Given the description of an element on the screen output the (x, y) to click on. 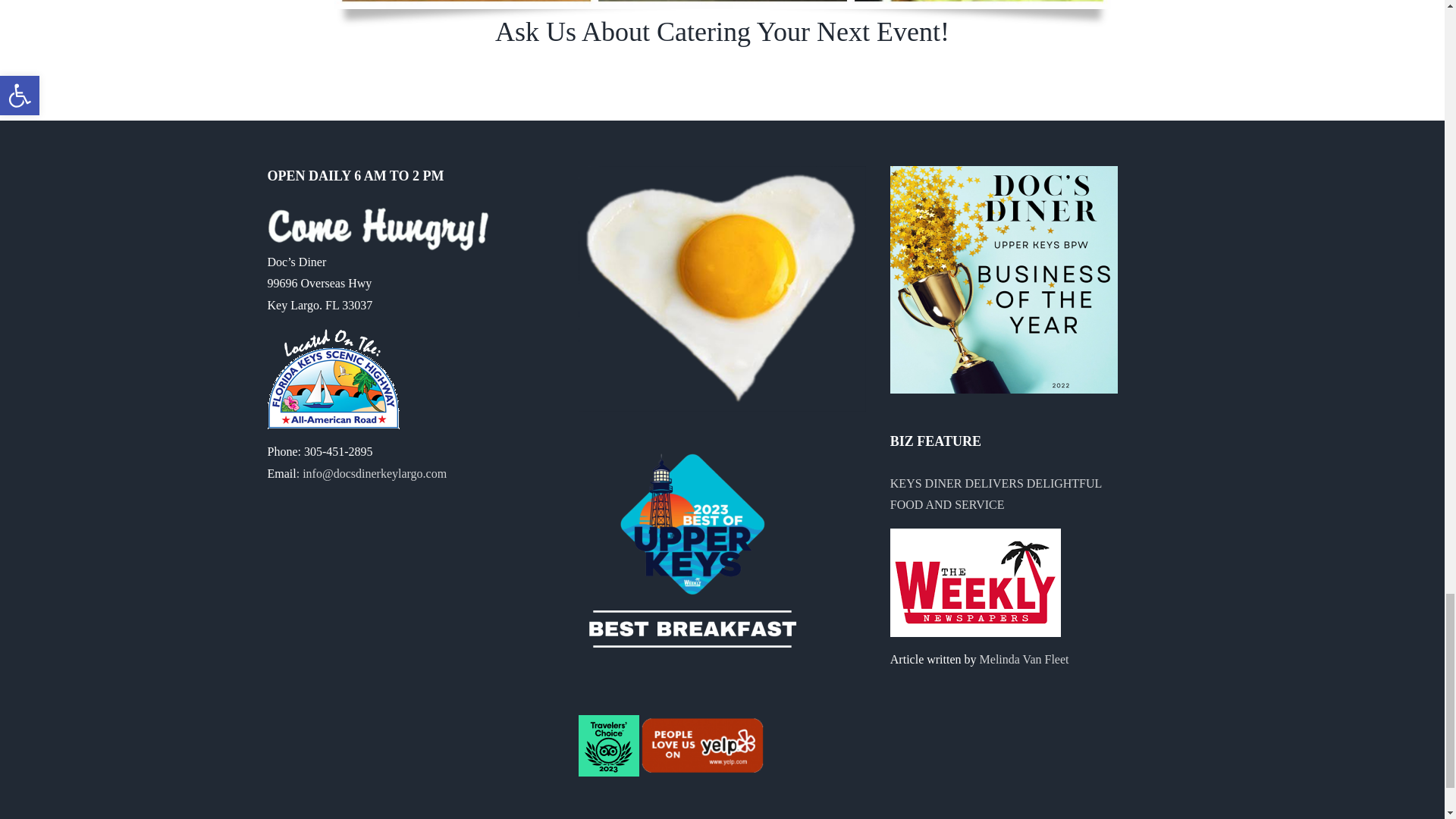
Melinda Van Fleet (1023, 658)
